Given the description of an element on the screen output the (x, y) to click on. 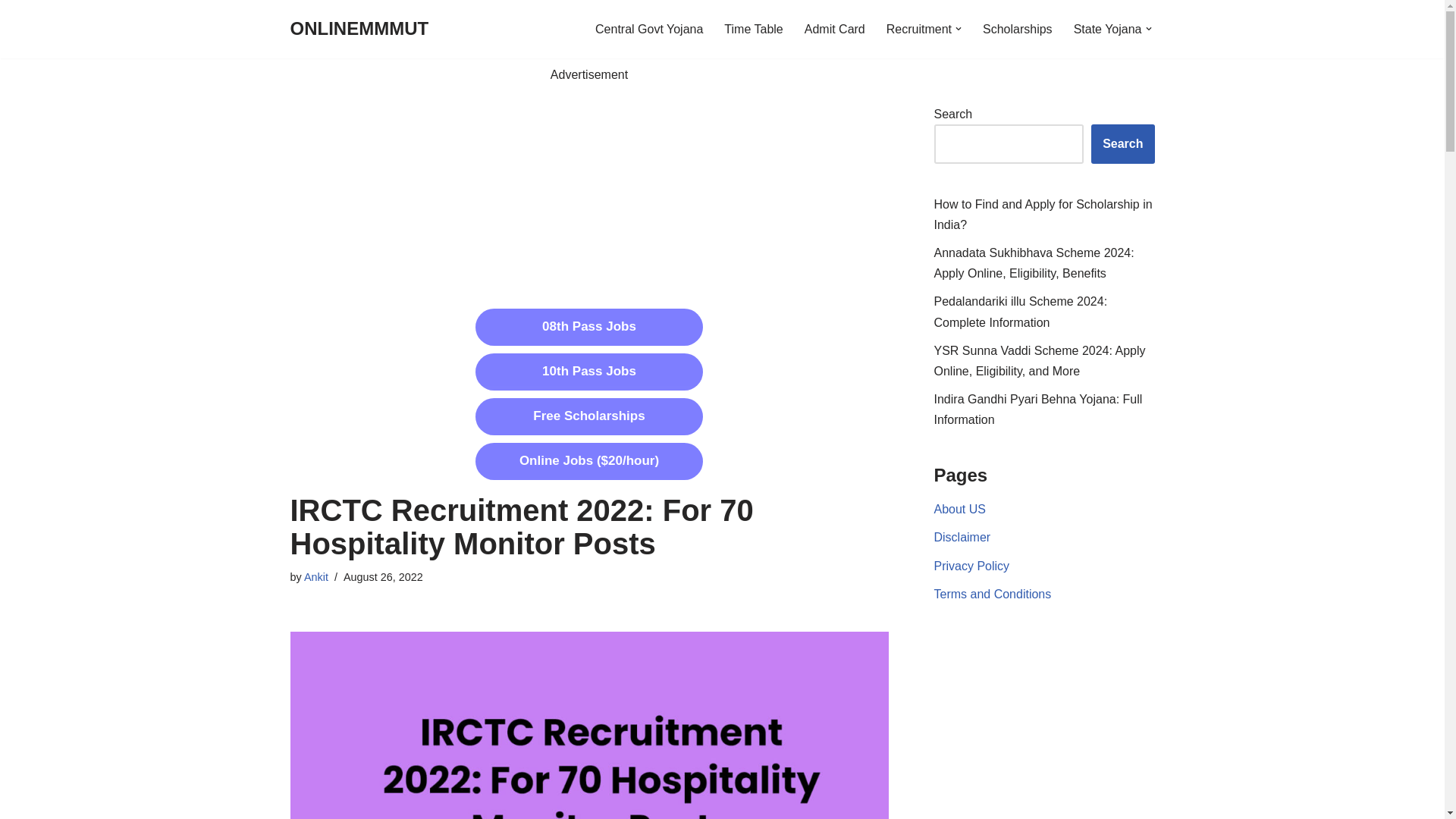
State Yojana (1107, 28)
Advertisement (588, 191)
ONLINEMMMUT (358, 29)
Admit Card (834, 28)
Recruitment (919, 28)
Skip to content (11, 31)
Scholarships (1017, 28)
Central Govt Yojana (649, 28)
Posts by Ankit (316, 576)
Time Table (753, 28)
